Given the description of an element on the screen output the (x, y) to click on. 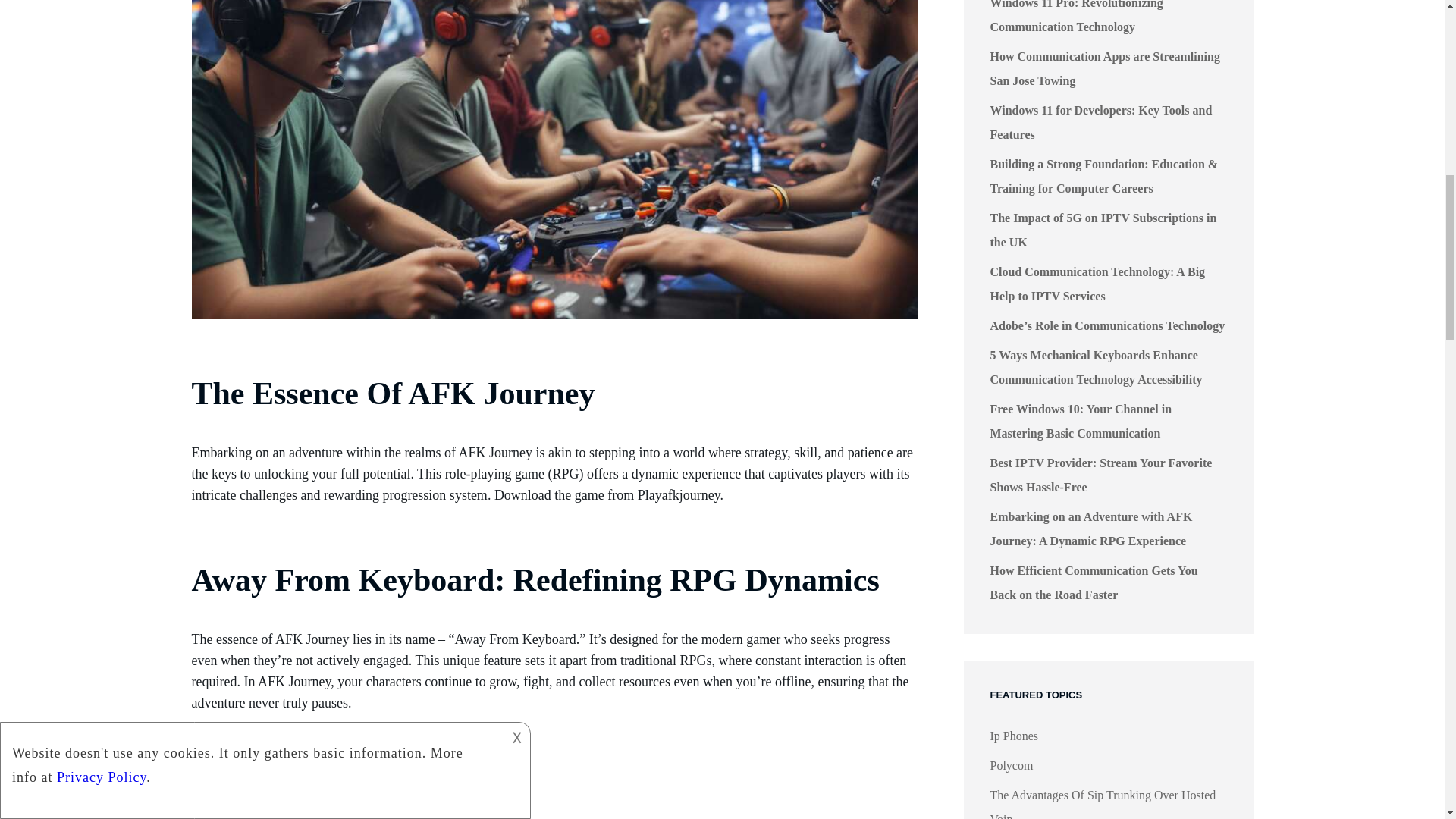
Windows 11 for Developers: Key Tools and Features (1101, 122)
Best IPTV Provider: Stream Your Favorite Shows Hassle-Free (1101, 474)
How Communication Apps are Streamlining San Jose Towing (1105, 67)
Cloud Communication Technology: A Big Help to IPTV Services (1097, 283)
Windows 11 Pro: Revolutionizing Communication Technology (1076, 16)
The Impact of 5G on IPTV Subscriptions in the UK (1103, 229)
